Given the description of an element on the screen output the (x, y) to click on. 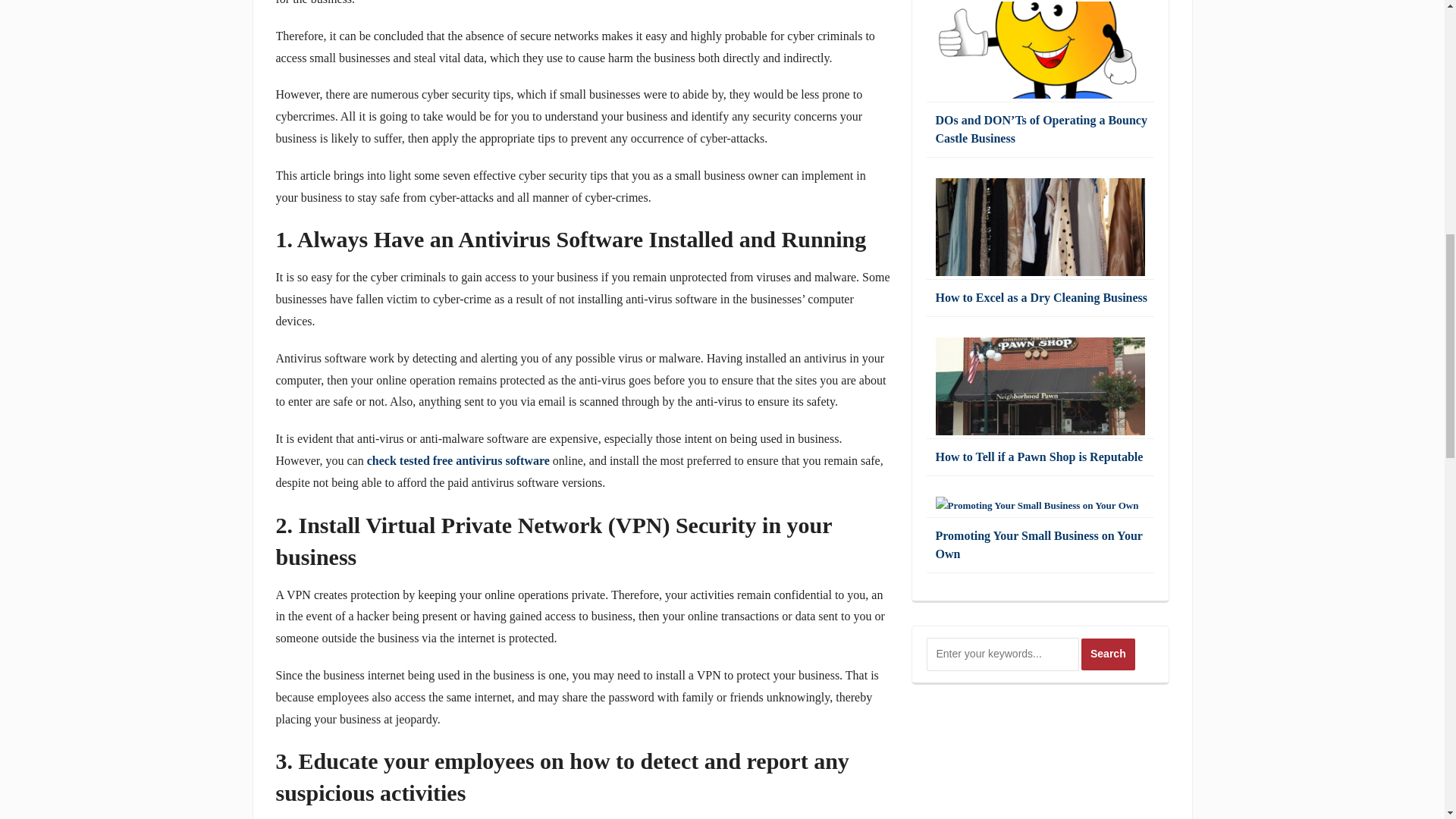
Search (1108, 653)
Search (1108, 653)
